Given the description of an element on the screen output the (x, y) to click on. 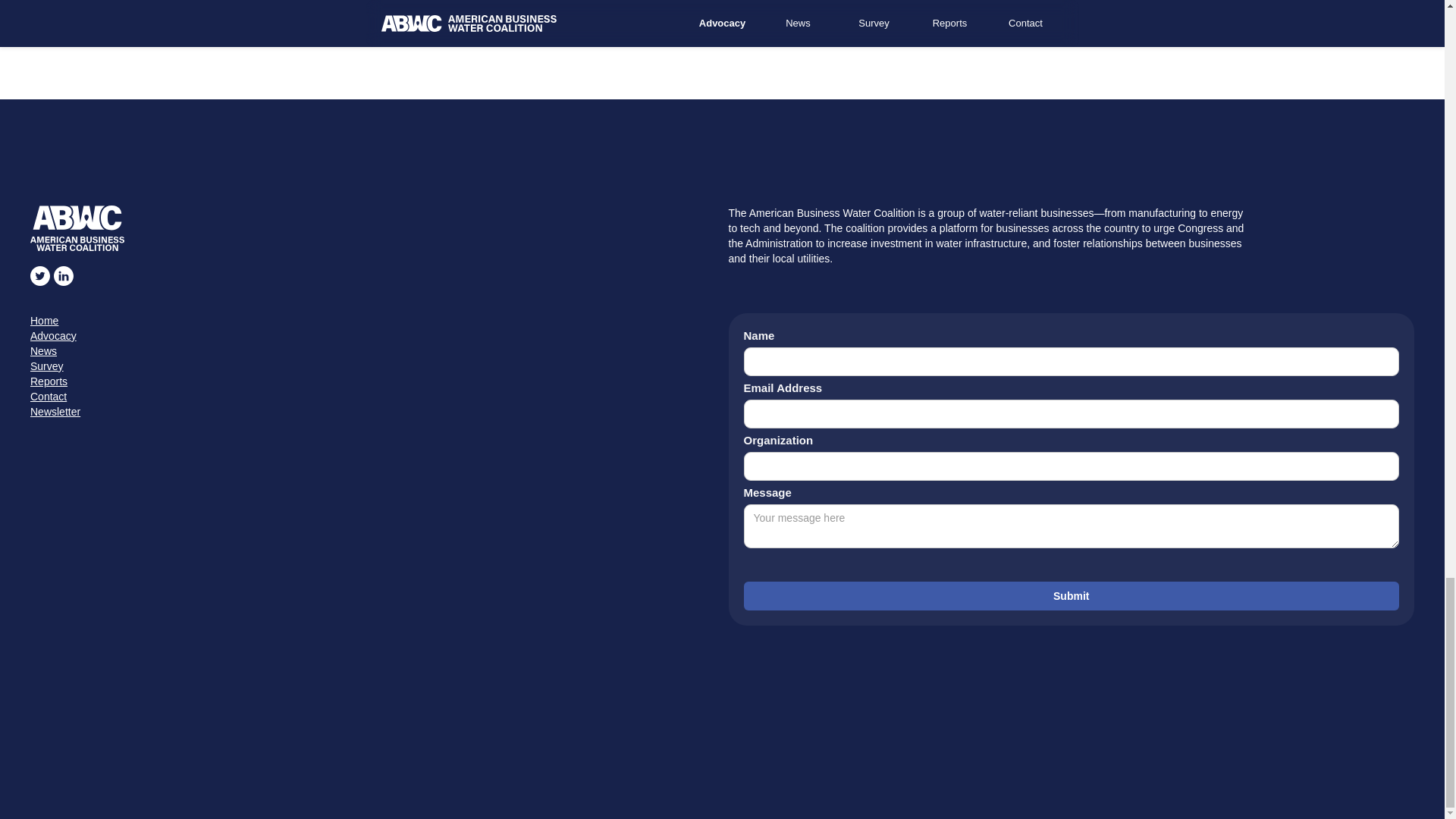
Submit (1070, 595)
Newsletter (373, 411)
Contact (373, 396)
News (373, 350)
Reports (373, 381)
Survey (373, 365)
Submit (1070, 595)
Advocacy (373, 335)
Home (373, 320)
